Given the description of an element on the screen output the (x, y) to click on. 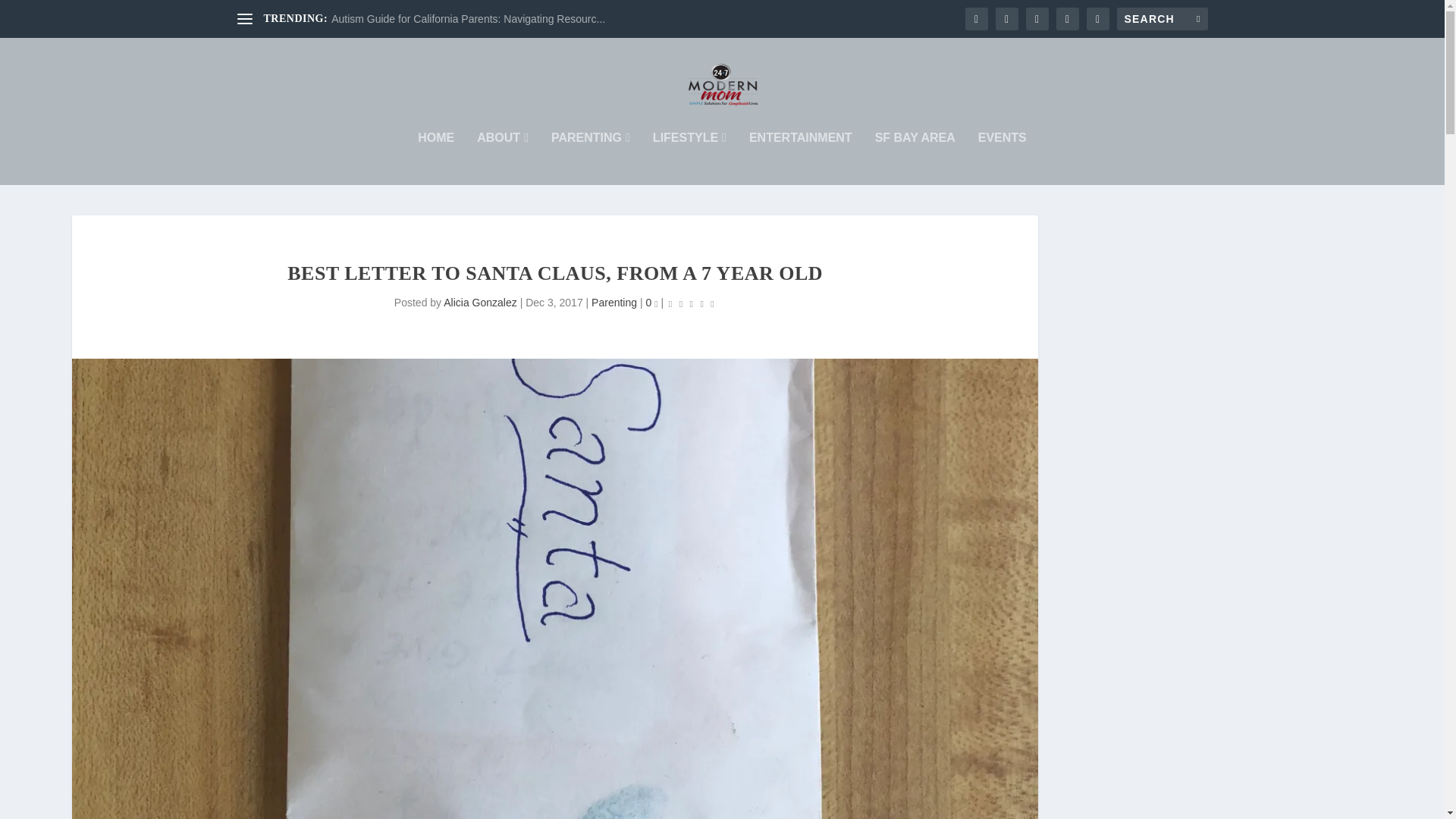
0 (651, 302)
EVENTS (1002, 158)
SF BAY AREA (915, 158)
ABOUT (502, 158)
ENTERTAINMENT (800, 158)
Autism Guide for California Parents: Navigating Resourc... (468, 19)
Alicia Gonzalez (480, 302)
PARENTING (590, 158)
Parenting (614, 302)
Search for: (1161, 18)
LIFESTYLE (689, 158)
Rating: 0.00 (691, 303)
Posts by Alicia Gonzalez (480, 302)
